Given the description of an element on the screen output the (x, y) to click on. 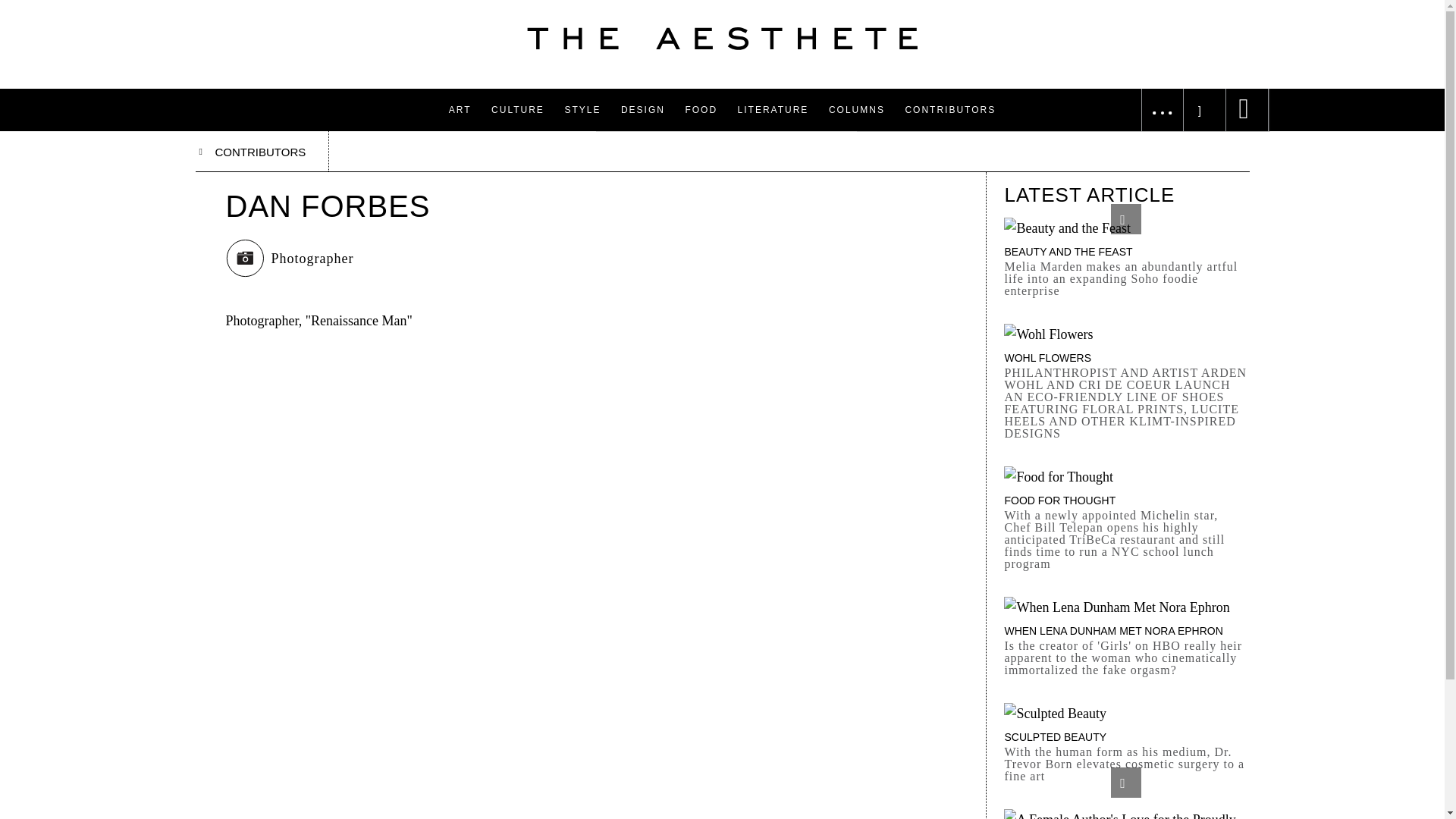
DESIGN (643, 109)
The Aesthete (721, 38)
COLUMNS (856, 109)
FACEBOOK (1149, 4)
CONTACT US (955, 4)
CONTRIBUTORS (949, 109)
PINTEREST (1151, 63)
TERMS AND CONDITIONS (990, 33)
CULTURE (518, 109)
LITERATURE (773, 109)
Sign up (1204, 56)
search (21, 7)
TWITTER (1144, 33)
READ MORE (726, 77)
